Given the description of an element on the screen output the (x, y) to click on. 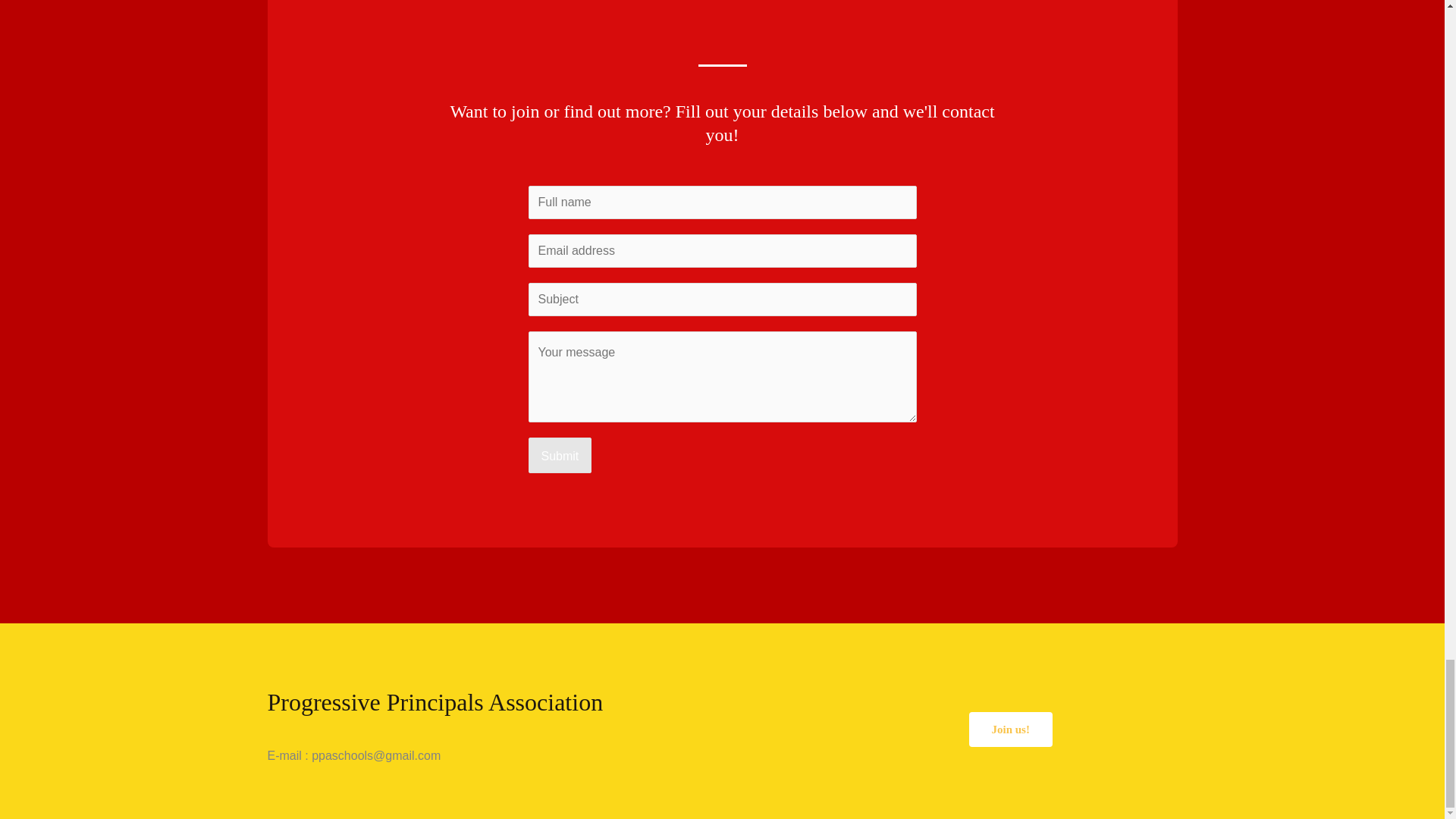
Submit (559, 455)
Join us! (1010, 728)
